Given the description of an element on the screen output the (x, y) to click on. 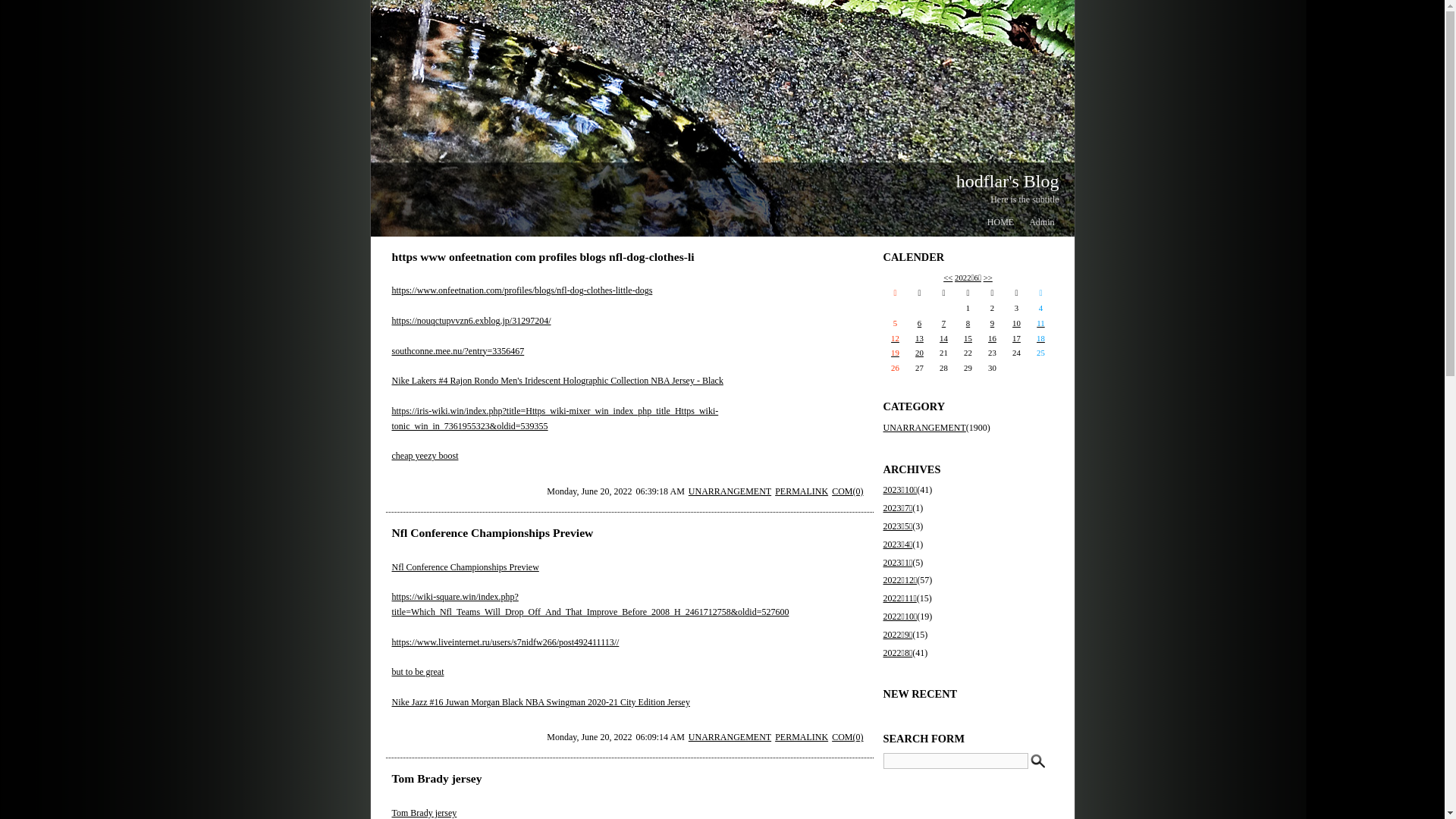
UNARRANGEMENT Element type: text (729, 736)
PERMALINK Element type: text (801, 491)
HOME Element type: text (1000, 222)
6 Element type: text (919, 322)
https www onfeetnation com profiles blogs nfl-dog-clothes-li Element type: text (542, 256)
UNARRANGEMENT Element type: text (729, 491)
https://nouqctupvvzn6.exblog.jp/31297204/ Element type: text (470, 320)
Nfl Conference Championships Preview Element type: text (492, 532)
13 Element type: text (919, 337)
https://www.liveinternet.ru/users/s7nidfw266/post492411113// Element type: text (504, 642)
7 Element type: text (943, 322)
Nfl Conference Championships Preview Element type: text (464, 566)
9 Element type: text (992, 322)
Tom Brady jersey Element type: text (436, 777)
>> Element type: text (987, 277)
COM(0) Element type: text (846, 491)
19 Element type: text (895, 352)
11 Element type: text (1040, 322)
southconne.mee.nu/?entry=3356467 Element type: text (457, 350)
Admin Element type: text (1041, 222)
15 Element type: text (967, 337)
20 Element type: text (919, 352)
Tom Brady jersey Element type: text (423, 812)
cheap yeezy boost Element type: text (424, 455)
UNARRANGEMENT Element type: text (923, 427)
12 Element type: text (895, 337)
SEARCH Element type: text (1036, 760)
14 Element type: text (943, 337)
PERMALINK Element type: text (801, 737)
COM(0) Element type: text (846, 737)
<< Element type: text (947, 277)
18 Element type: text (1040, 337)
8 Element type: text (967, 322)
but to be great Element type: text (417, 671)
17 Element type: text (1016, 337)
10 Element type: text (1016, 322)
hodflar's Blog Element type: text (1007, 181)
16 Element type: text (992, 337)
